Given the description of an element on the screen output the (x, y) to click on. 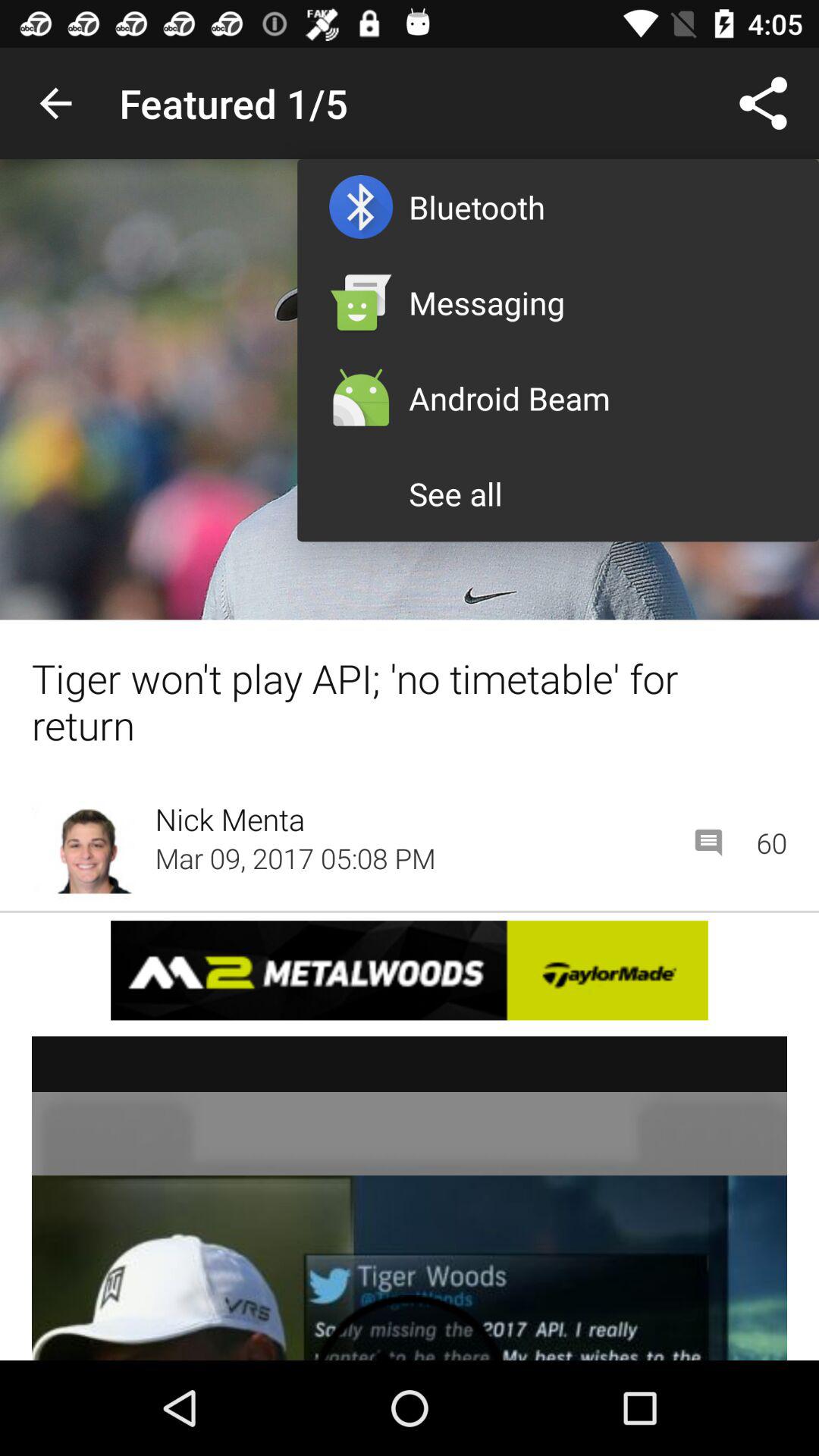
click on advertisements (409, 1198)
